Given the description of an element on the screen output the (x, y) to click on. 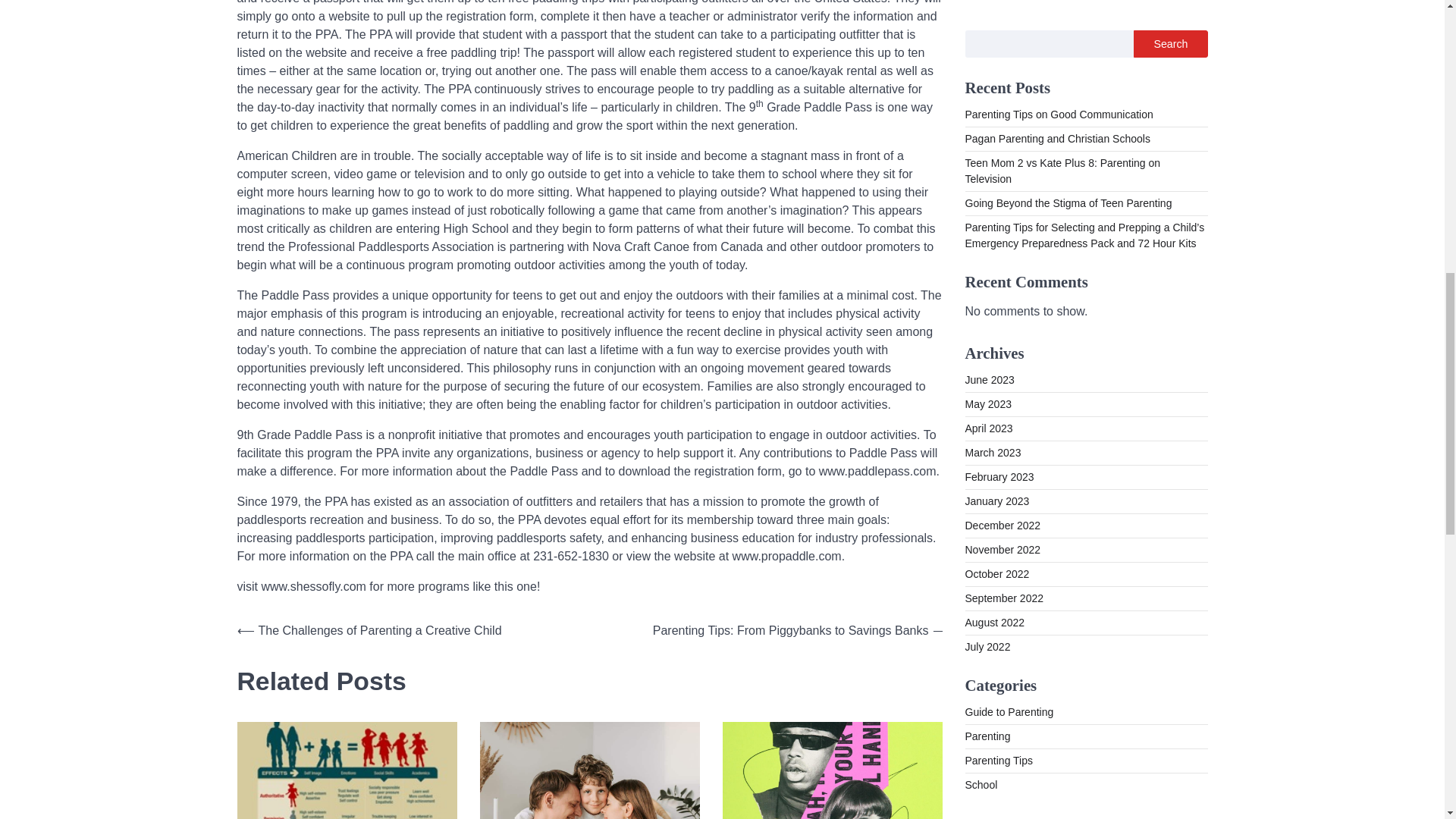
Parenting (986, 21)
School (980, 69)
Guide to Parenting (1007, 1)
Parenting Tips (997, 45)
